Given the description of an element on the screen output the (x, y) to click on. 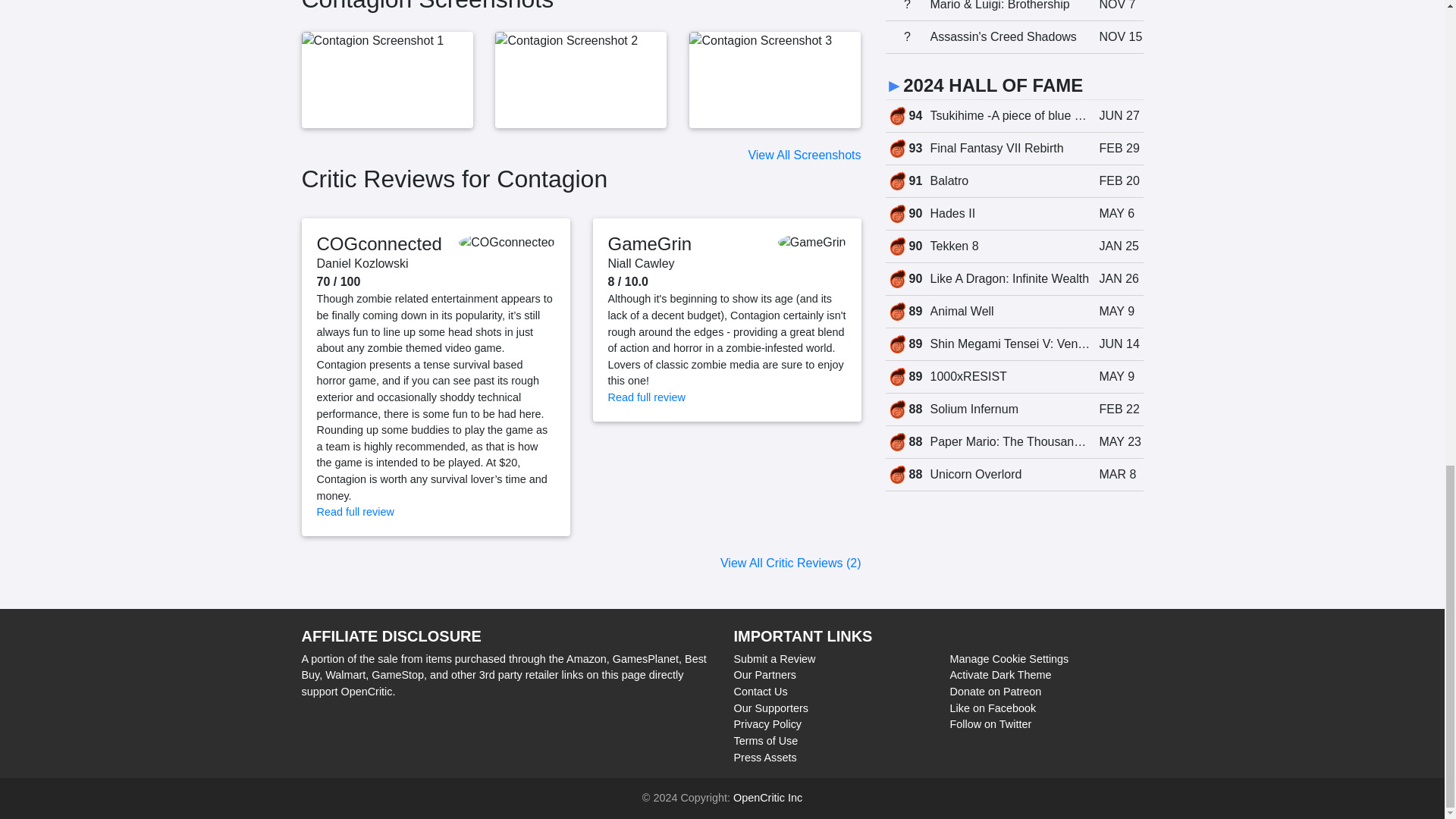
Read full review (355, 511)
COGconnected (379, 243)
View All Screenshots (804, 154)
Daniel Kozlowski (363, 263)
GameGrin (650, 243)
Niall Cawley (641, 263)
Read full review (646, 397)
